Given the description of an element on the screen output the (x, y) to click on. 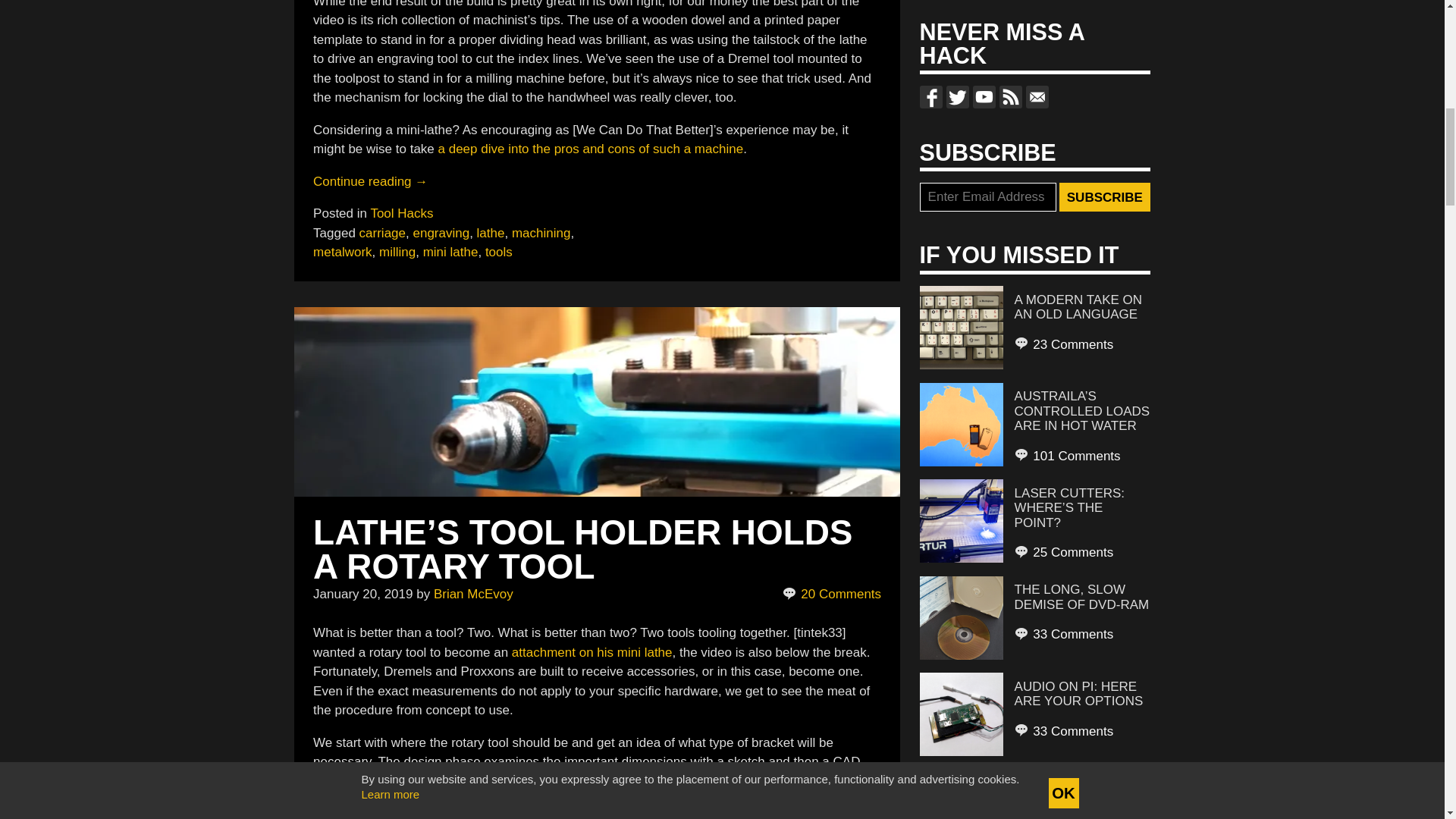
a deep dive into the pros and cons of such a machine (591, 148)
engraving (440, 233)
metalwork (342, 251)
Tool Hacks (400, 213)
milling (396, 251)
carriage (382, 233)
20 Comments (832, 594)
attachment on his mini lathe (592, 652)
Brian McEvoy (473, 594)
January 20, 2019 - 1:00 pm (362, 594)
